Given the description of an element on the screen output the (x, y) to click on. 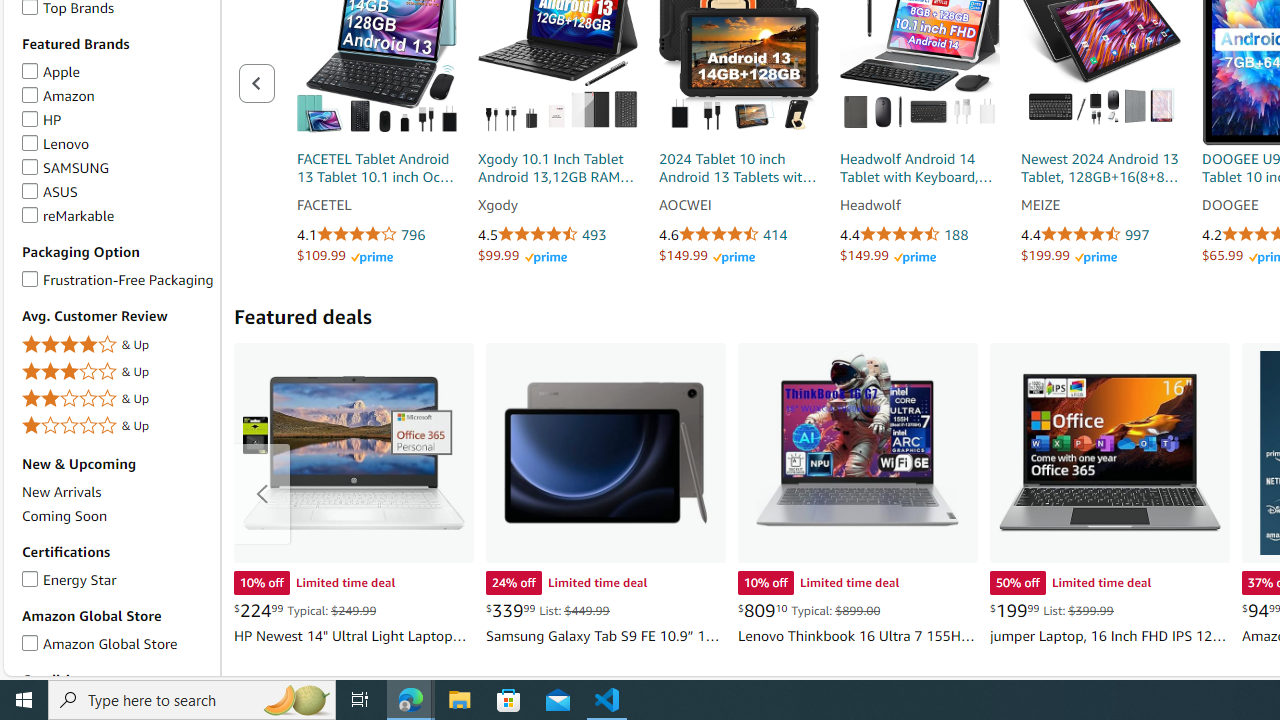
reMarkable (29, 211)
Headwolf (919, 205)
SAMSUNG SAMSUNG (65, 166)
SAMSUNGSAMSUNG (117, 167)
Previous page of related Sponsored Products (257, 82)
HP HP (41, 119)
Energy StarEnergy Star (117, 579)
$149.99 Amazon Prime (887, 255)
ASUS ASUS (49, 191)
New Arrivals (117, 491)
HPHP (117, 120)
reMarkablereMarkable (117, 215)
4.1 out of 5 stars 796 ratings (376, 235)
MEIZE (1101, 205)
